Given the description of an element on the screen output the (x, y) to click on. 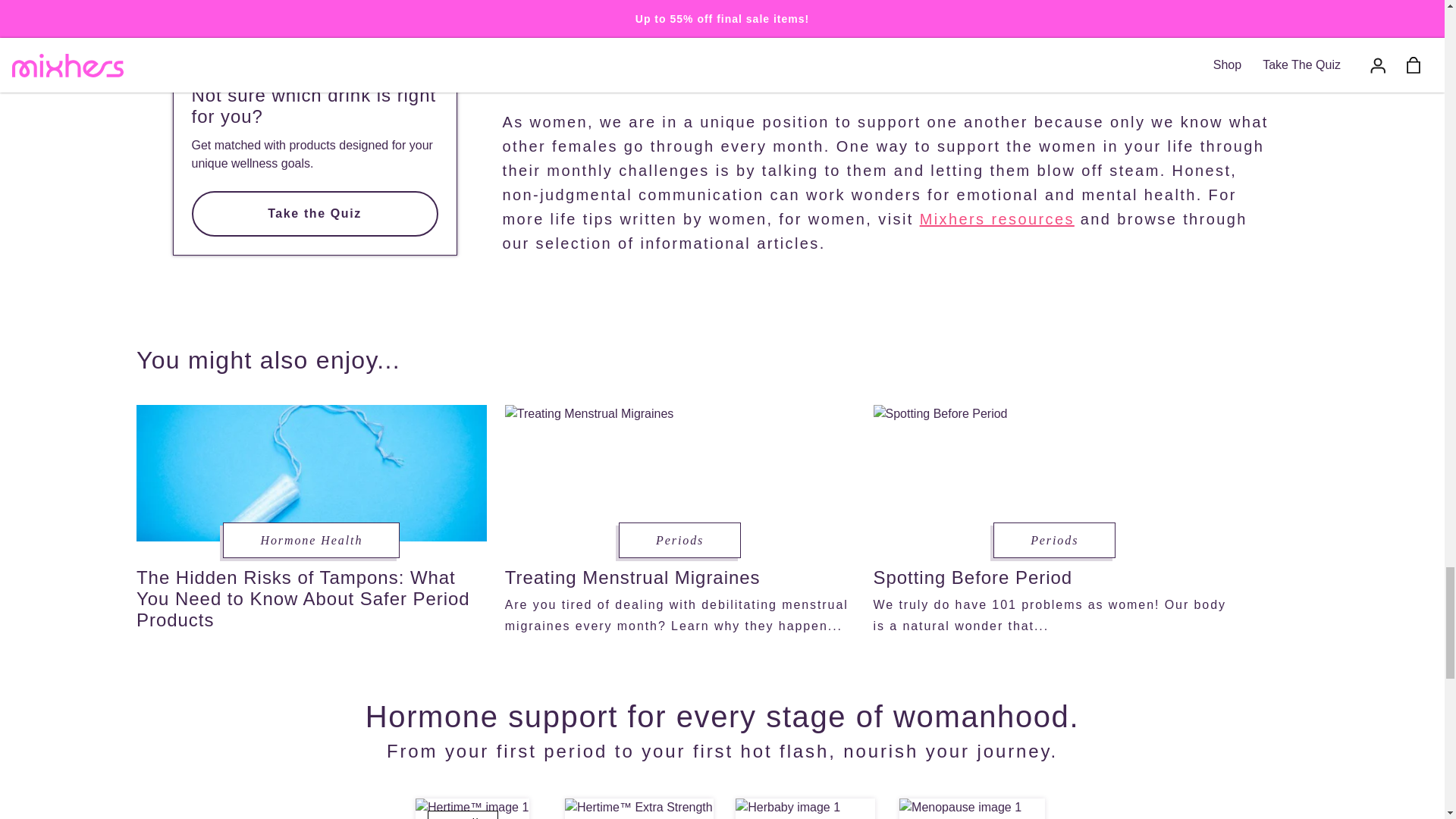
Take the Quiz (314, 213)
Mixhers resources (997, 218)
